Given the description of an element on the screen output the (x, y) to click on. 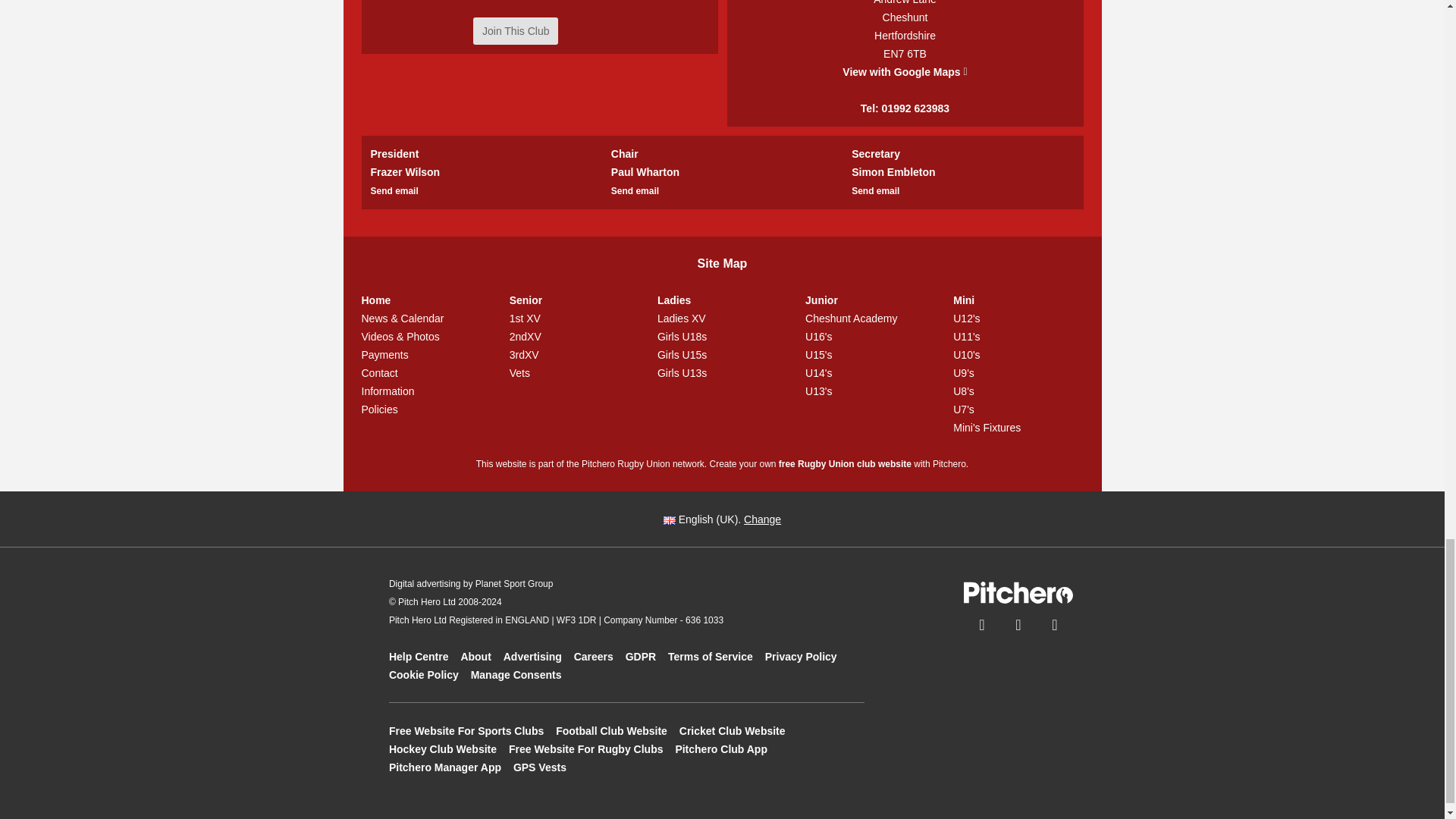
Home (425, 300)
Send email (635, 190)
Join This Club (515, 30)
Information (425, 391)
Contact (425, 372)
Send email (875, 190)
Tel: 01992 623983 (904, 107)
Payments (425, 354)
Send email (393, 190)
